Given the description of an element on the screen output the (x, y) to click on. 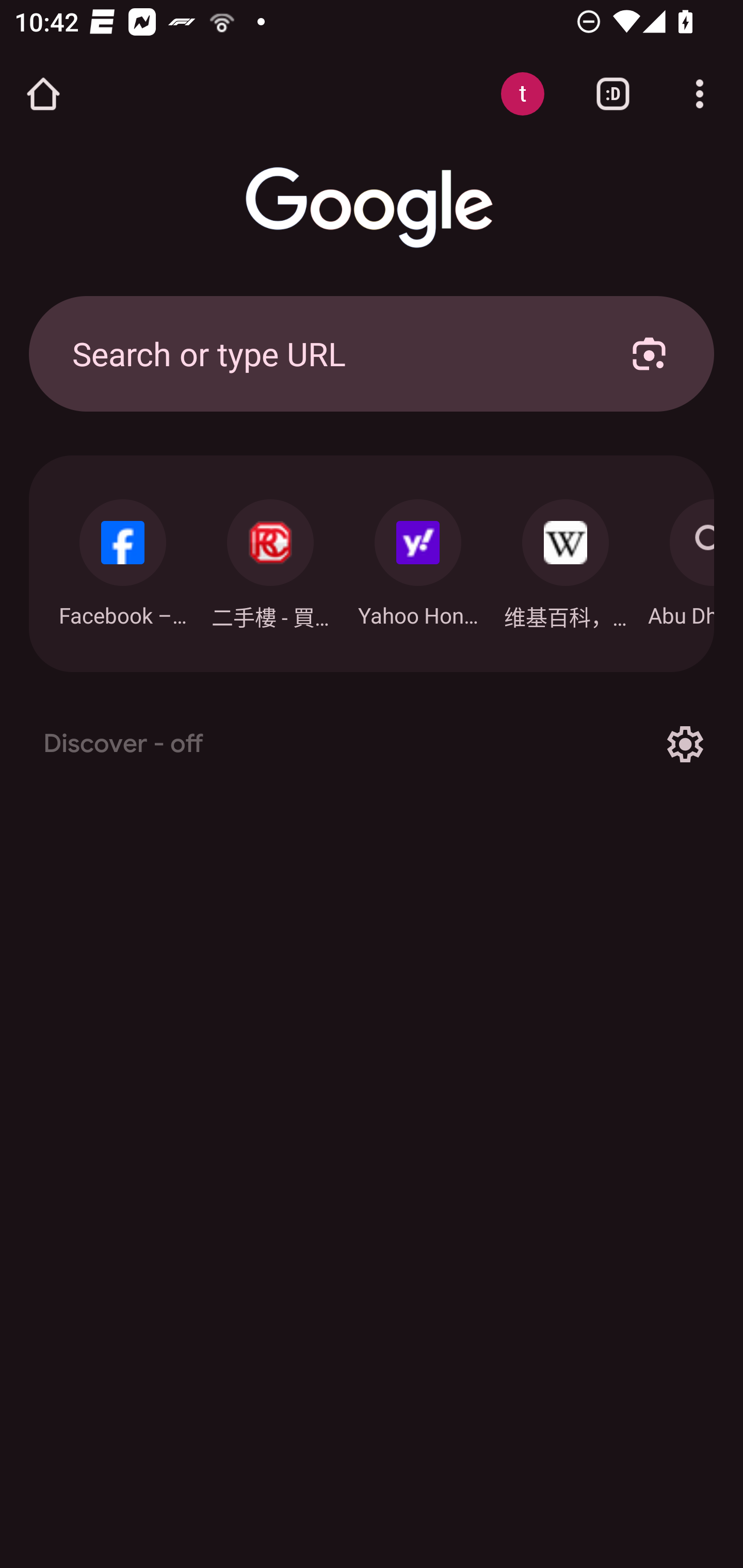
Open the home page (43, 93)
Switch or close tabs (612, 93)
Customize and control Google Chrome (699, 93)
Search or type URL (327, 353)
Search with your camera using Google Lens (648, 353)
Options for Discover (684, 743)
